Given the description of an element on the screen output the (x, y) to click on. 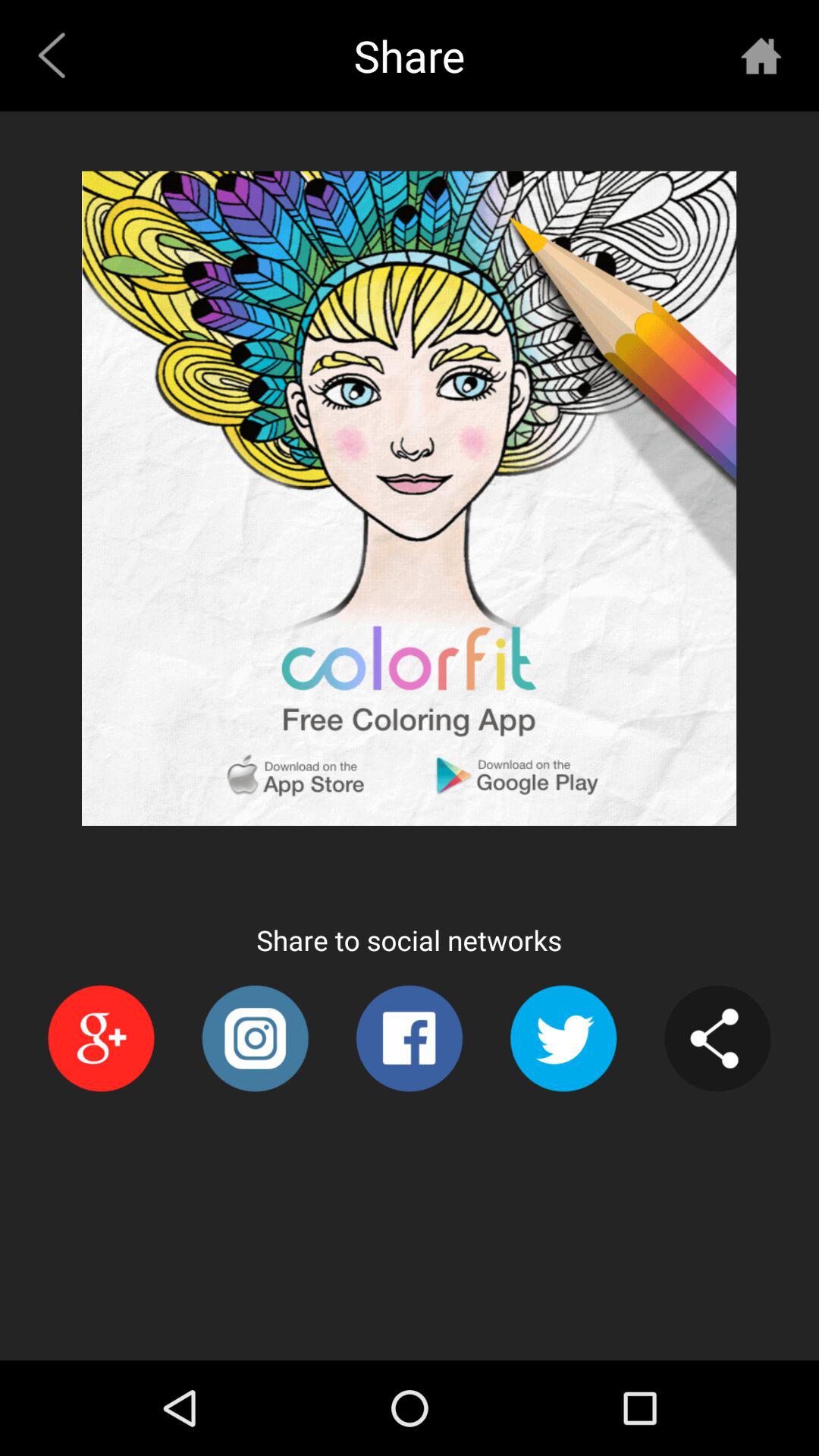
turn on the item below share to social icon (409, 1038)
